Given the description of an element on the screen output the (x, y) to click on. 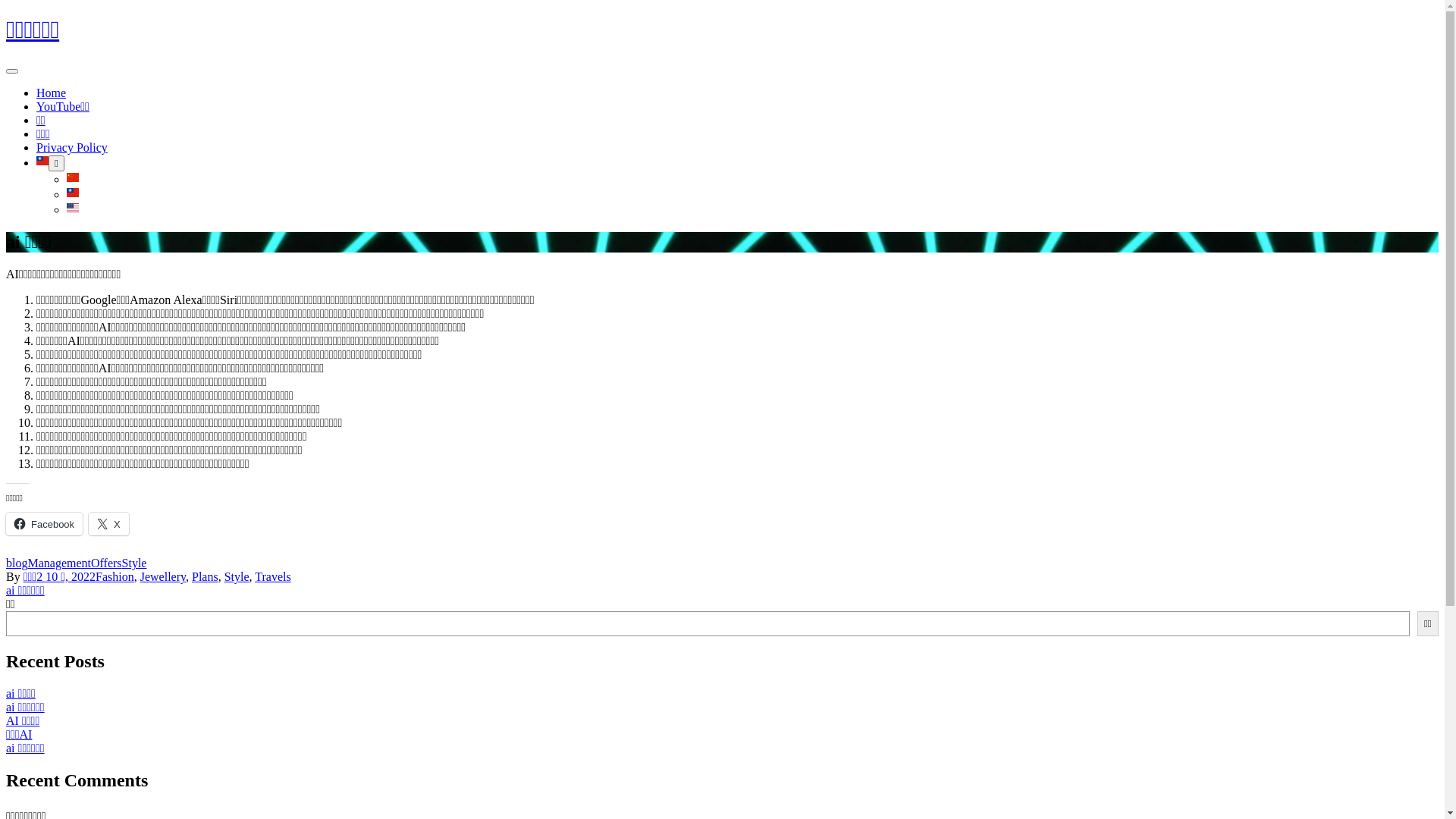
Fashion Element type: text (114, 576)
English Element type: hover (72, 209)
Jewellery Element type: text (162, 576)
Skip to content Element type: text (5, 15)
Plans Element type: text (204, 576)
Home Element type: text (50, 92)
X Element type: text (108, 523)
Management Element type: text (59, 562)
Privacy Policy Element type: text (71, 147)
Travels Element type: text (272, 576)
Offers Element type: text (106, 562)
Facebook Element type: text (44, 523)
blog Element type: text (16, 562)
Style Element type: text (134, 562)
Style Element type: text (236, 576)
